Given the description of an element on the screen output the (x, y) to click on. 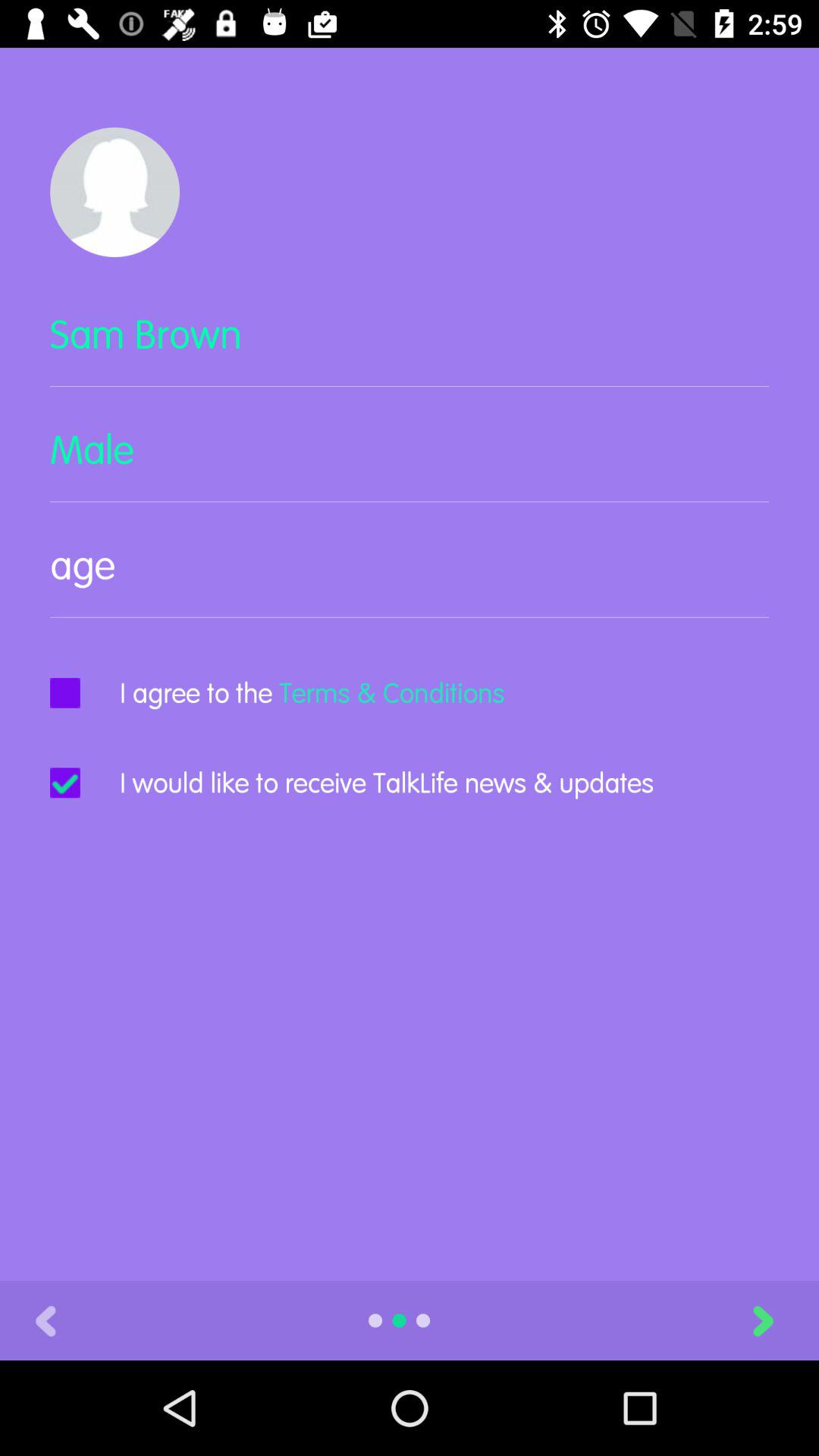
click item above i agree to item (409, 577)
